Given the description of an element on the screen output the (x, y) to click on. 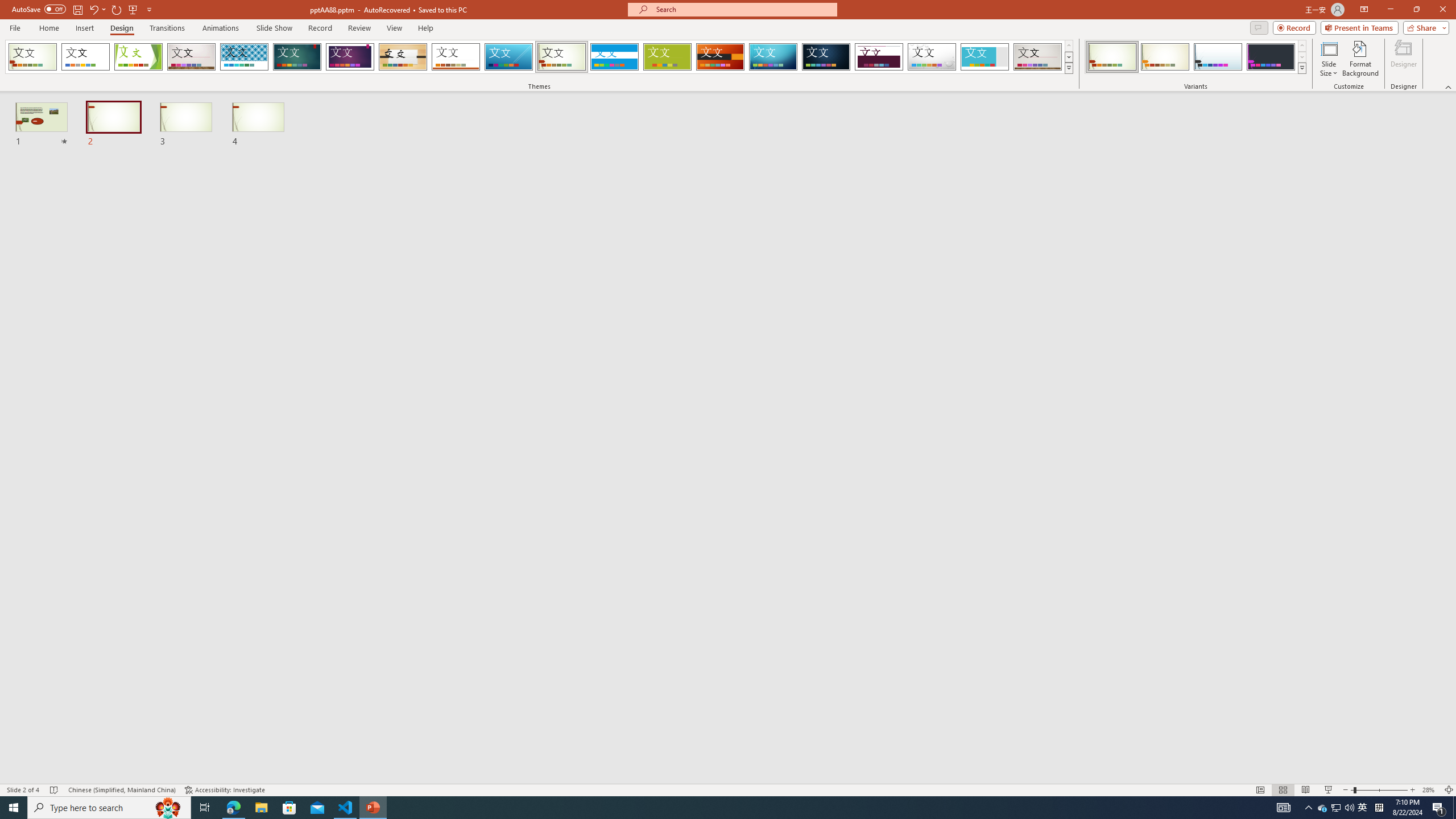
Wisp Variant 3 (1217, 56)
Circuit Loading Preview... (772, 56)
Frame Loading Preview... (984, 56)
Organic Loading Preview... (403, 56)
Format Background (1360, 58)
